Given the description of an element on the screen output the (x, y) to click on. 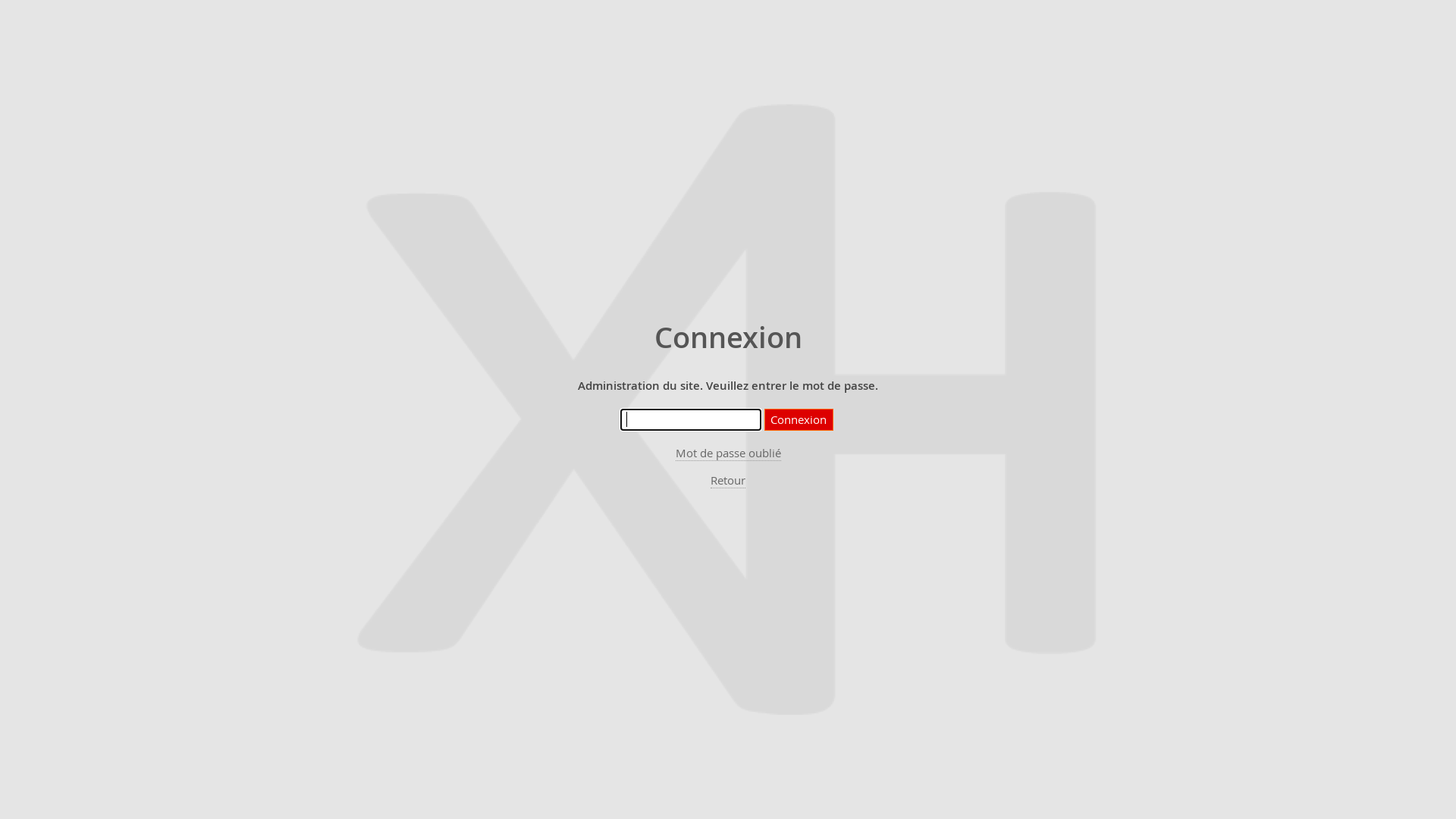
Connexion Element type: text (798, 419)
Retour Element type: text (727, 480)
